Given the description of an element on the screen output the (x, y) to click on. 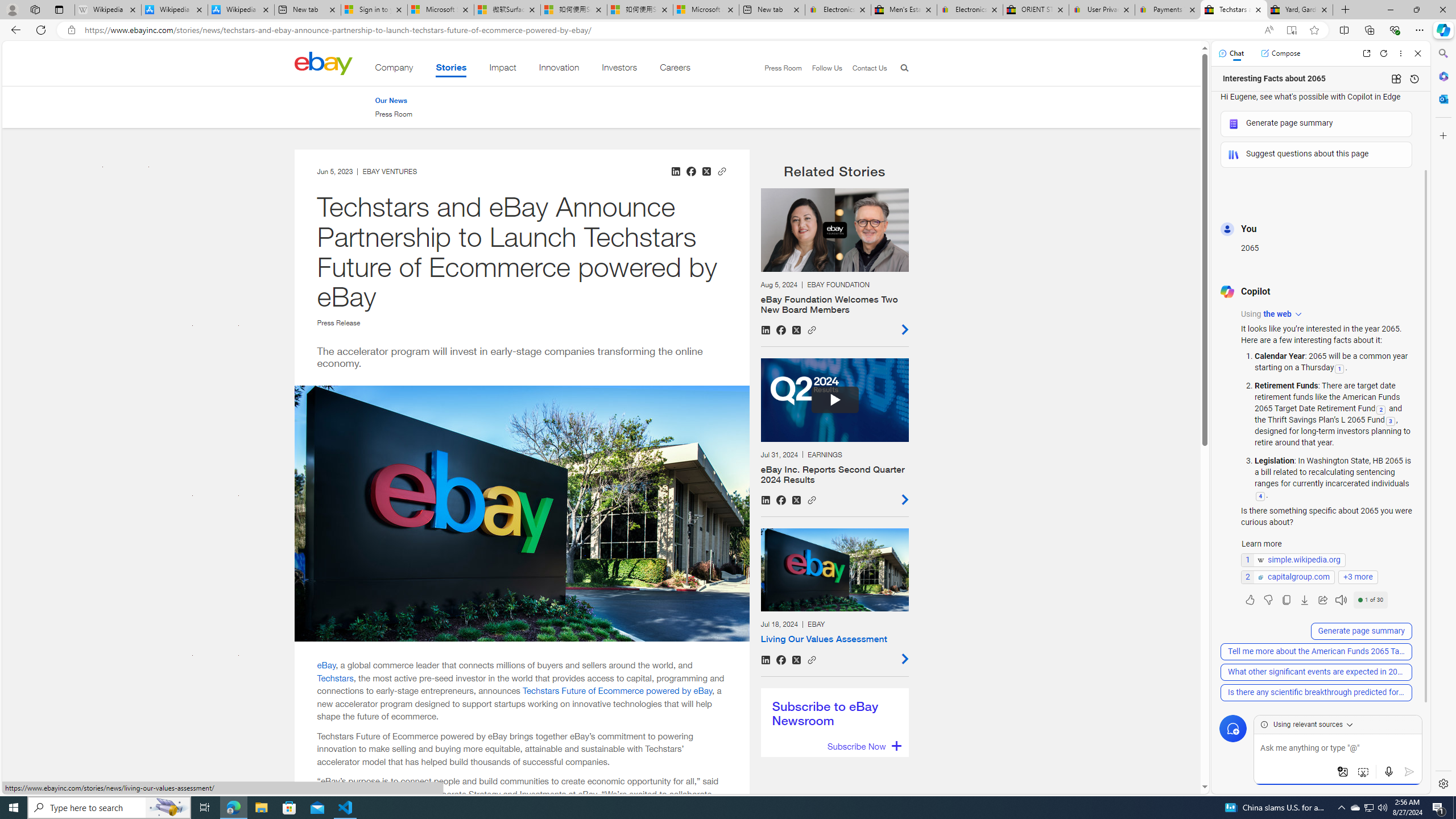
Investors (619, 69)
Class: desktop (323, 63)
Article: eBay Inc. Reports Second Quarter 2024 Results (834, 431)
Stories . This is the current section. (451, 69)
Company (393, 69)
Impact (502, 69)
Expand Subscribe to eBay Newsroom (863, 745)
Innovation (558, 69)
Compose (1280, 52)
Techstars (335, 677)
Company (393, 69)
